Given the description of an element on the screen output the (x, y) to click on. 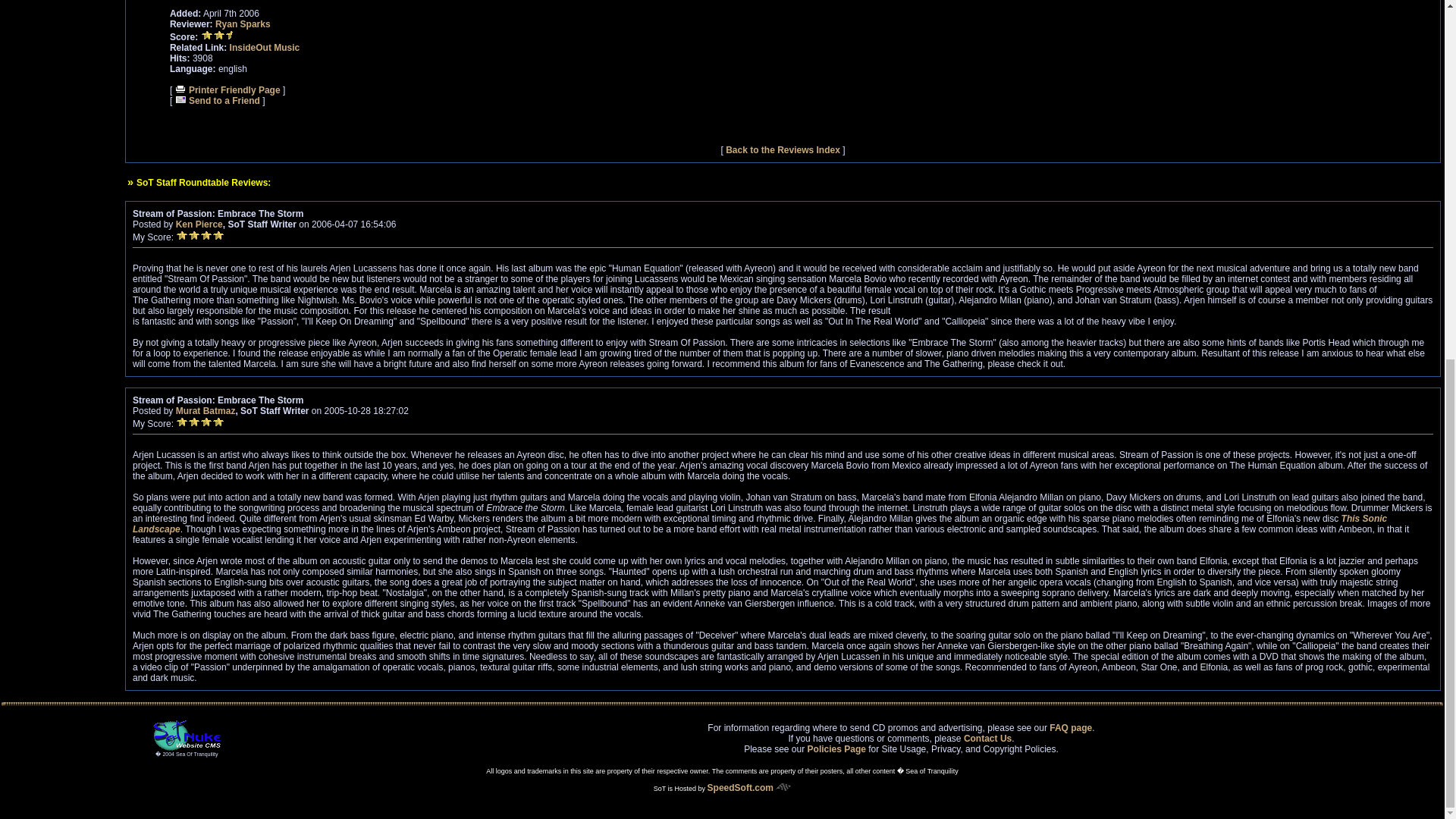
Murat Batmaz (205, 410)
Ryan Sparks (242, 23)
Ken Pierce (199, 224)
InsideOut Music (264, 47)
FAQ page (1070, 727)
This Sonic Landscape (759, 523)
Printer Friendly Page (227, 90)
Back to the Reviews Index (782, 149)
Send to a Friend (217, 100)
